Given the description of an element on the screen output the (x, y) to click on. 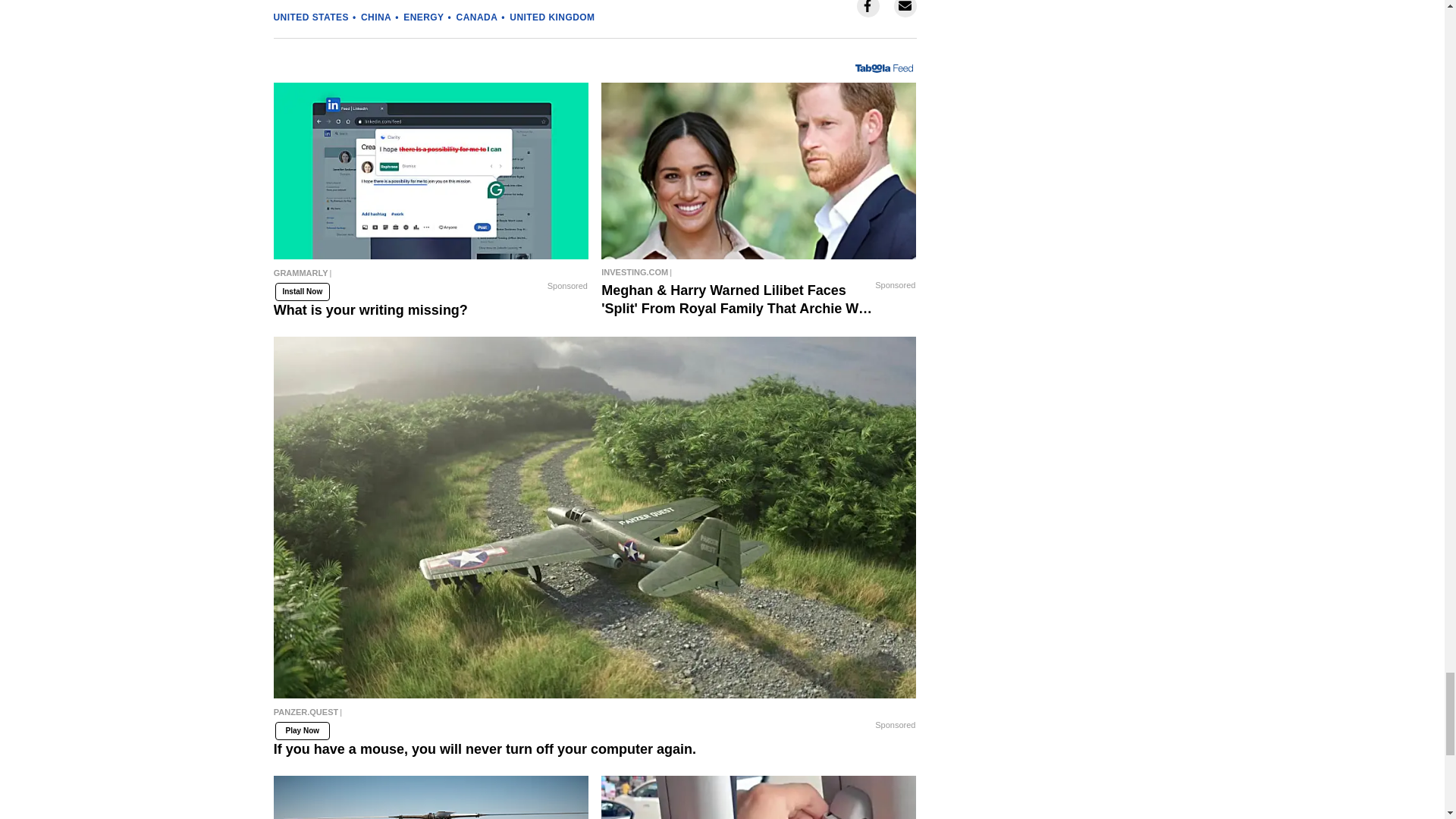
If you own a mouse, you have to play this game. (430, 797)
What is your writing missing? (430, 170)
What is your writing missing? (430, 276)
Every Car Has This, Not Every Car Owner Knows How To Use It (758, 797)
